Given the description of an element on the screen output the (x, y) to click on. 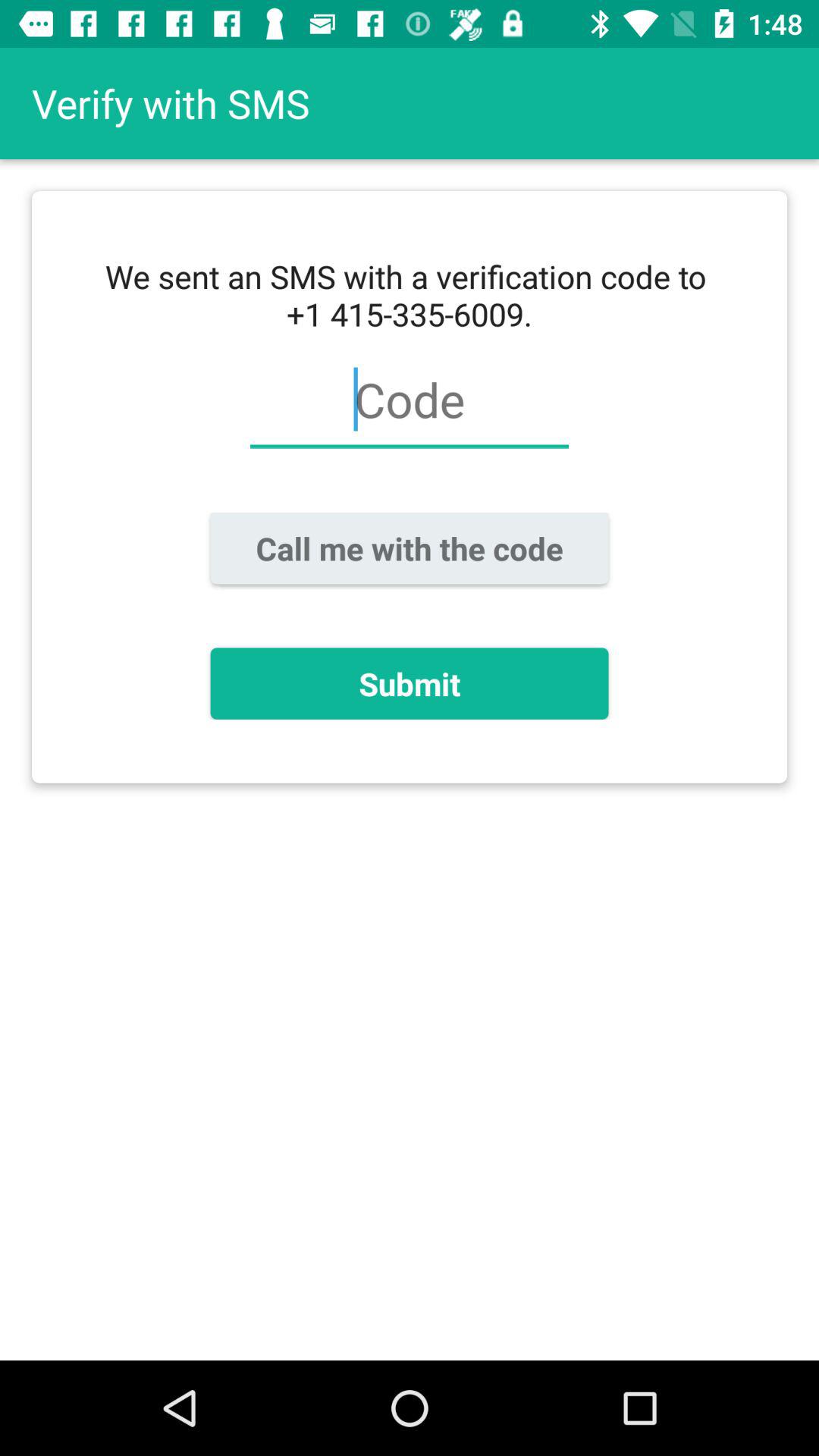
open icon below we sent an icon (409, 407)
